Given the description of an element on the screen output the (x, y) to click on. 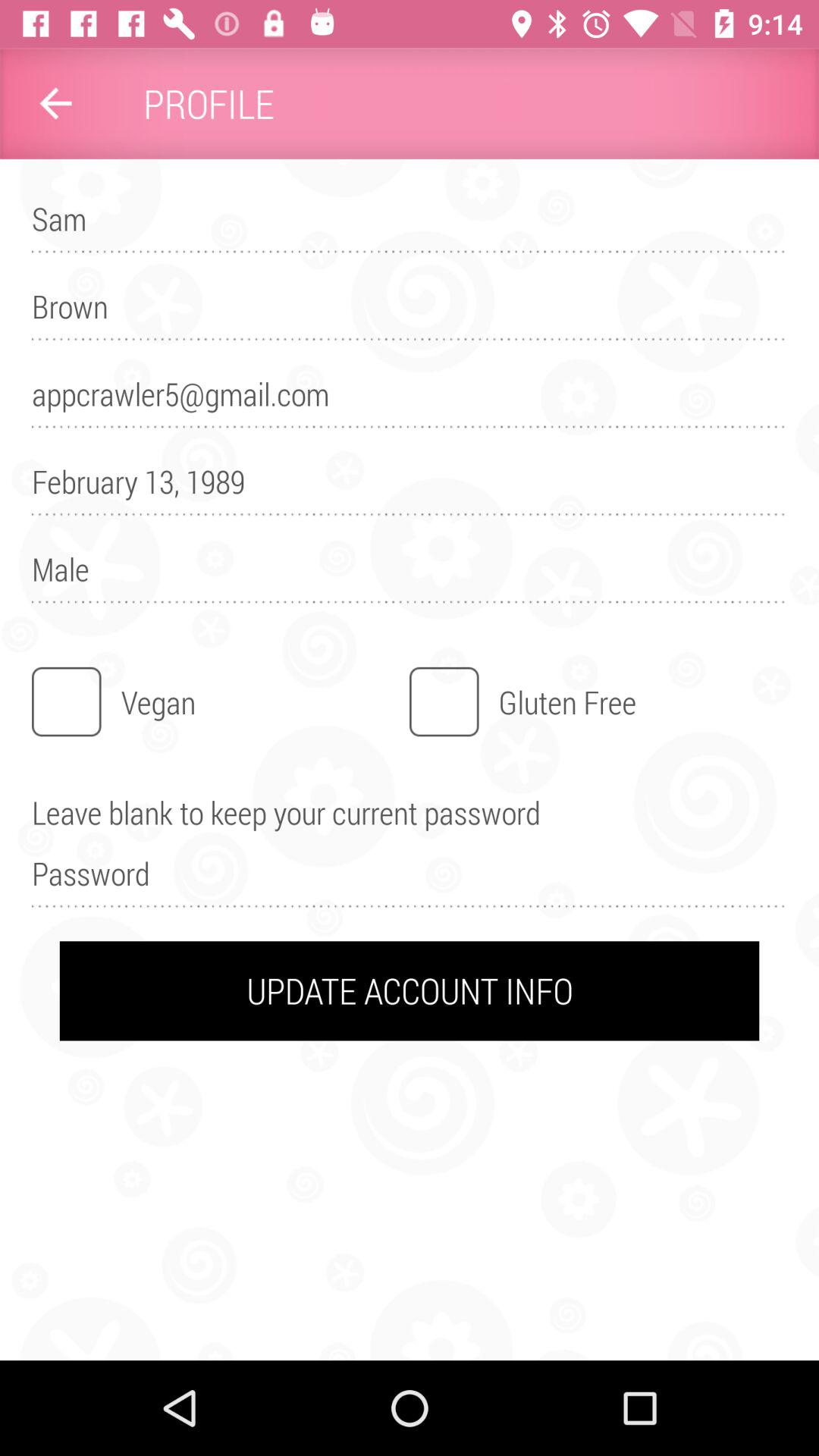
select the icon above the update account info item (409, 880)
